Given the description of an element on the screen output the (x, y) to click on. 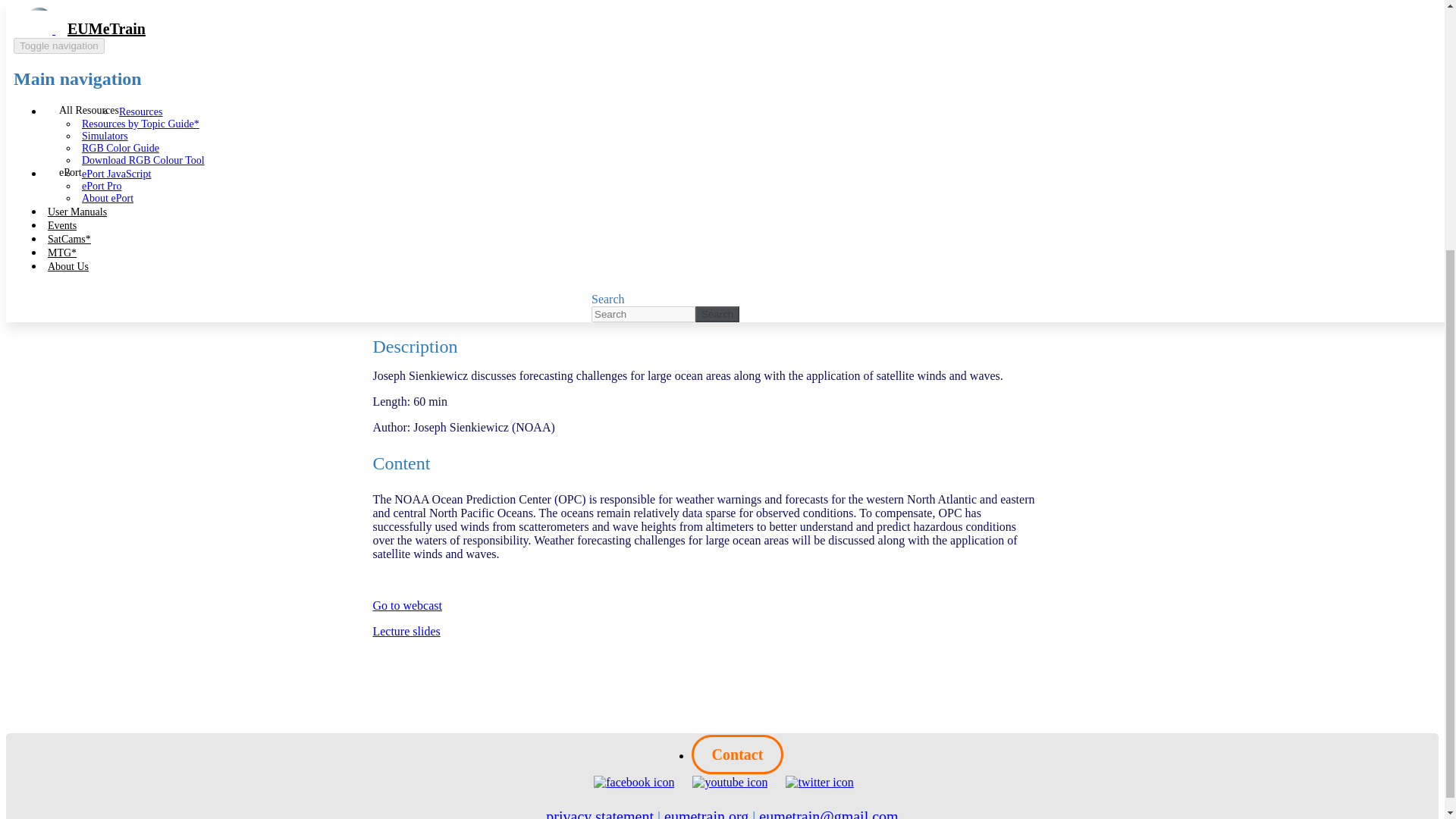
Weather (46, 294)
Marine forecasting (73, 174)
Identify and interpret fields and derived products (145, 241)
Satellite skills and knowledge for operational meteorologist (172, 187)
Go to webcast (407, 604)
Contact (737, 753)
Marine (44, 280)
Lecture slides (405, 631)
